Given the description of an element on the screen output the (x, y) to click on. 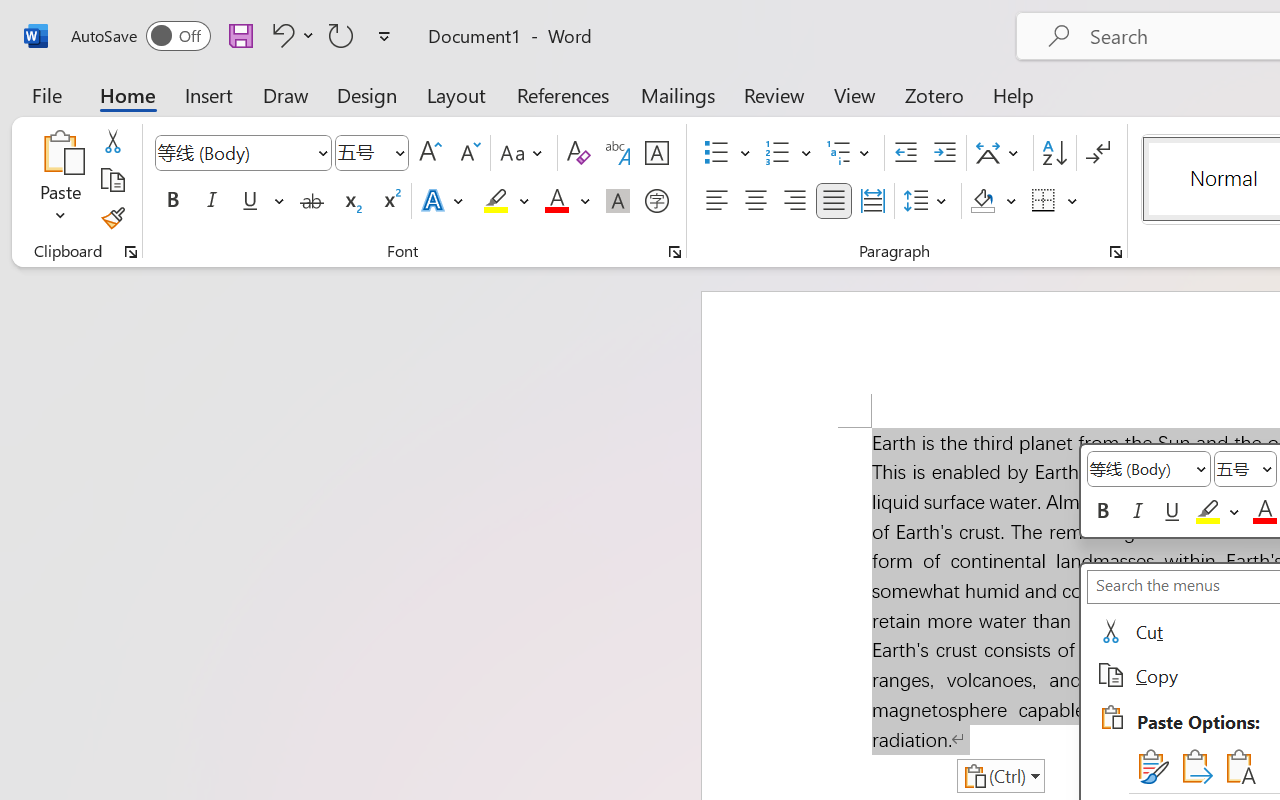
Sort... (1054, 153)
Undo Paste Text Only (280, 35)
Enclose Characters... (656, 201)
Grow Font (430, 153)
Class: NetUIComboboxAnchor (1245, 469)
Multilevel List (850, 153)
Font Color Red (556, 201)
Open (399, 152)
